Given the description of an element on the screen output the (x, y) to click on. 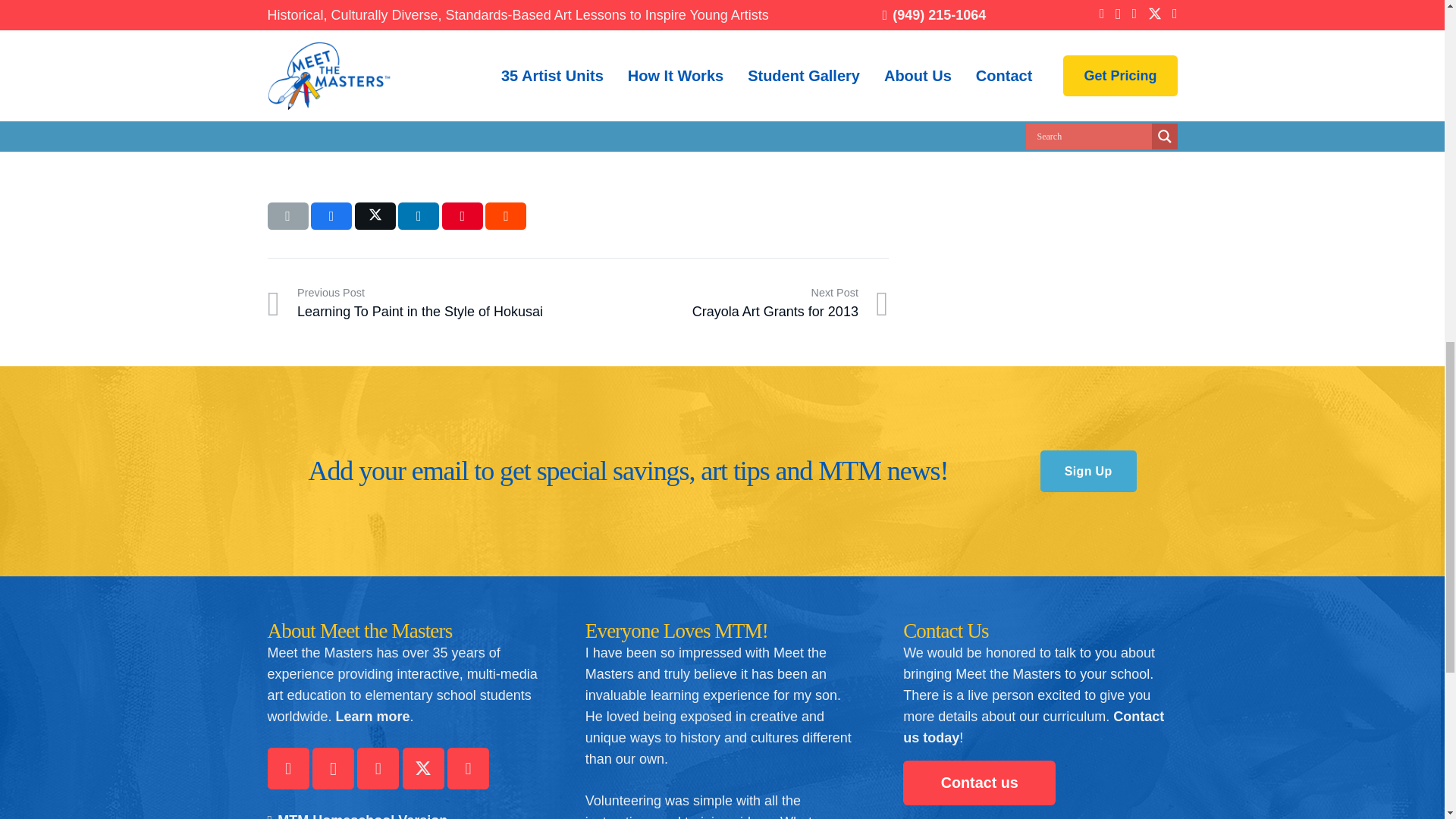
here (733, 303)
Pinterest (489, 128)
Learning To Paint in the Style of Hokusai (377, 768)
Email this (422, 303)
Instagram (286, 216)
Share this (422, 303)
Tweet this (333, 768)
Crayola Art Grants for 2013 (418, 216)
Share this (375, 216)
Facebook (733, 303)
Share this (504, 216)
Pin this (287, 768)
